Given the description of an element on the screen output the (x, y) to click on. 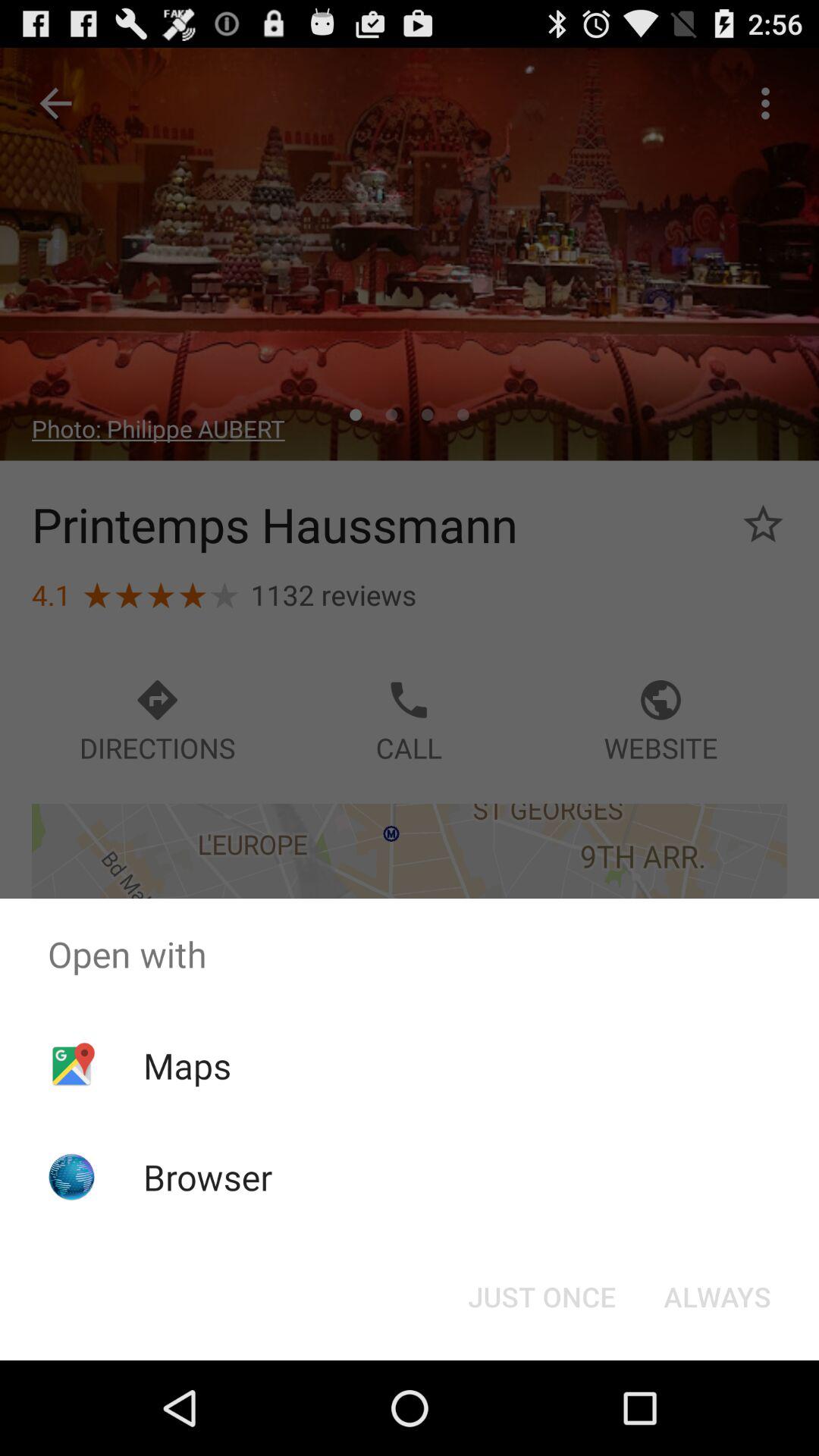
scroll until browser (207, 1176)
